Given the description of an element on the screen output the (x, y) to click on. 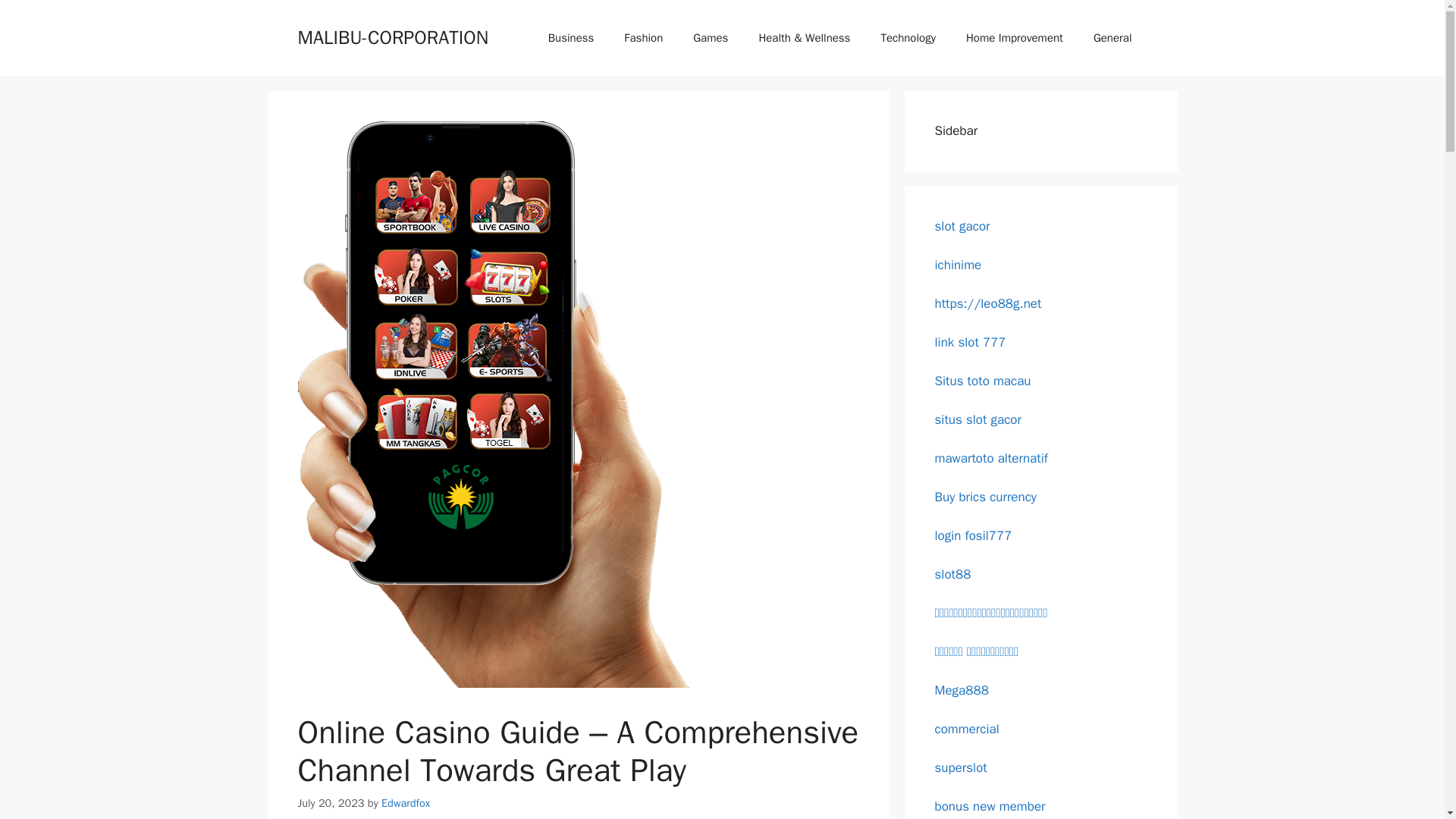
commercial (966, 728)
Situs toto macau (982, 381)
bonus new member (989, 805)
Technology (907, 37)
Mega888 (961, 690)
login fosil777 (972, 535)
Home Improvement (1014, 37)
mawartoto alternatif (990, 458)
Edwardfox (405, 802)
situs slot gacor (977, 418)
